Given the description of an element on the screen output the (x, y) to click on. 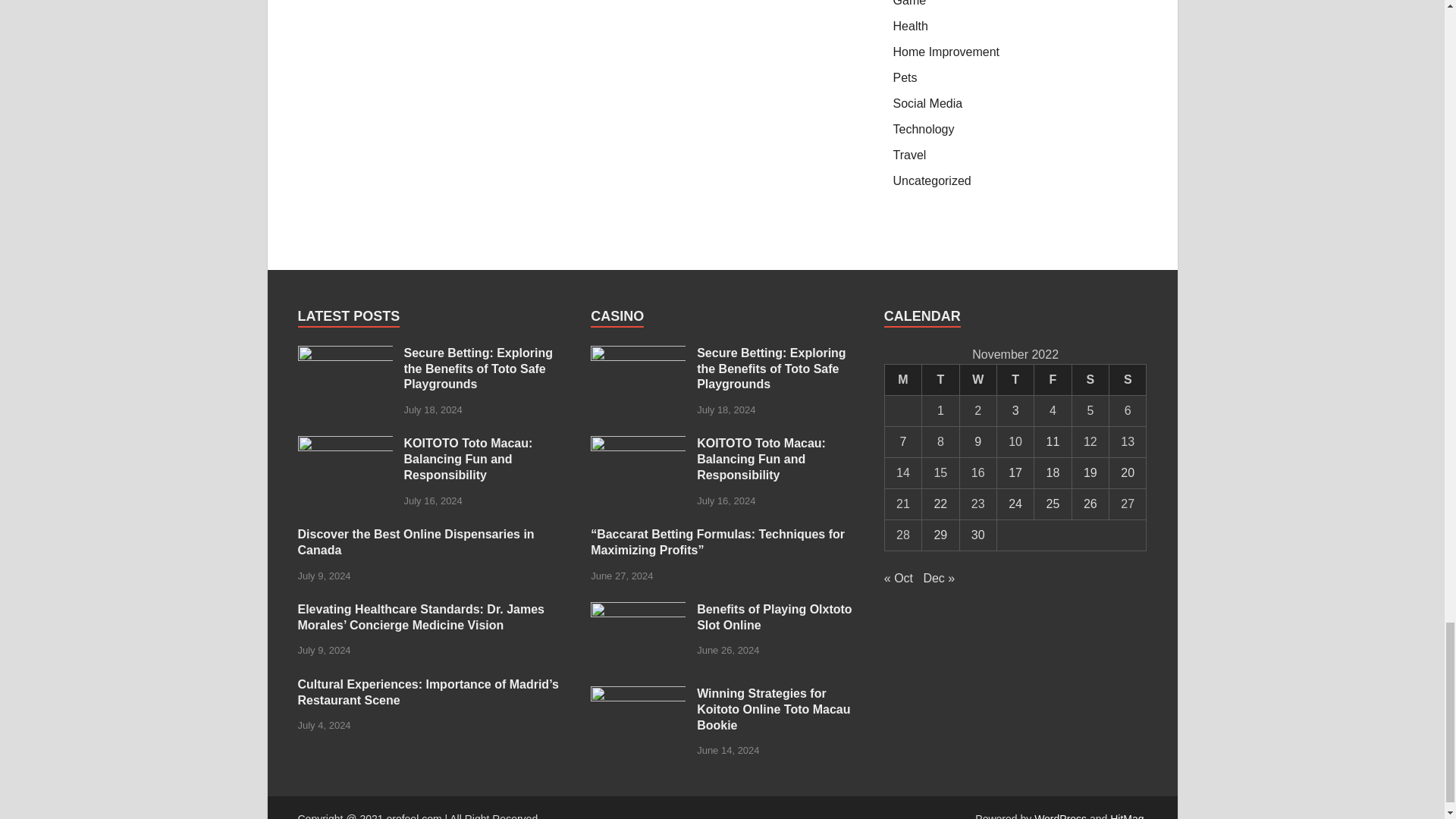
KOITOTO Toto Macau: Balancing Fun and Responsibility (344, 444)
KOITOTO Toto Macau: Balancing Fun and Responsibility (638, 444)
Winning Strategies for Koitoto Online Toto Macau Bookie (638, 694)
Benefits of Playing Olxtoto Slot Online (638, 610)
